Given the description of an element on the screen output the (x, y) to click on. 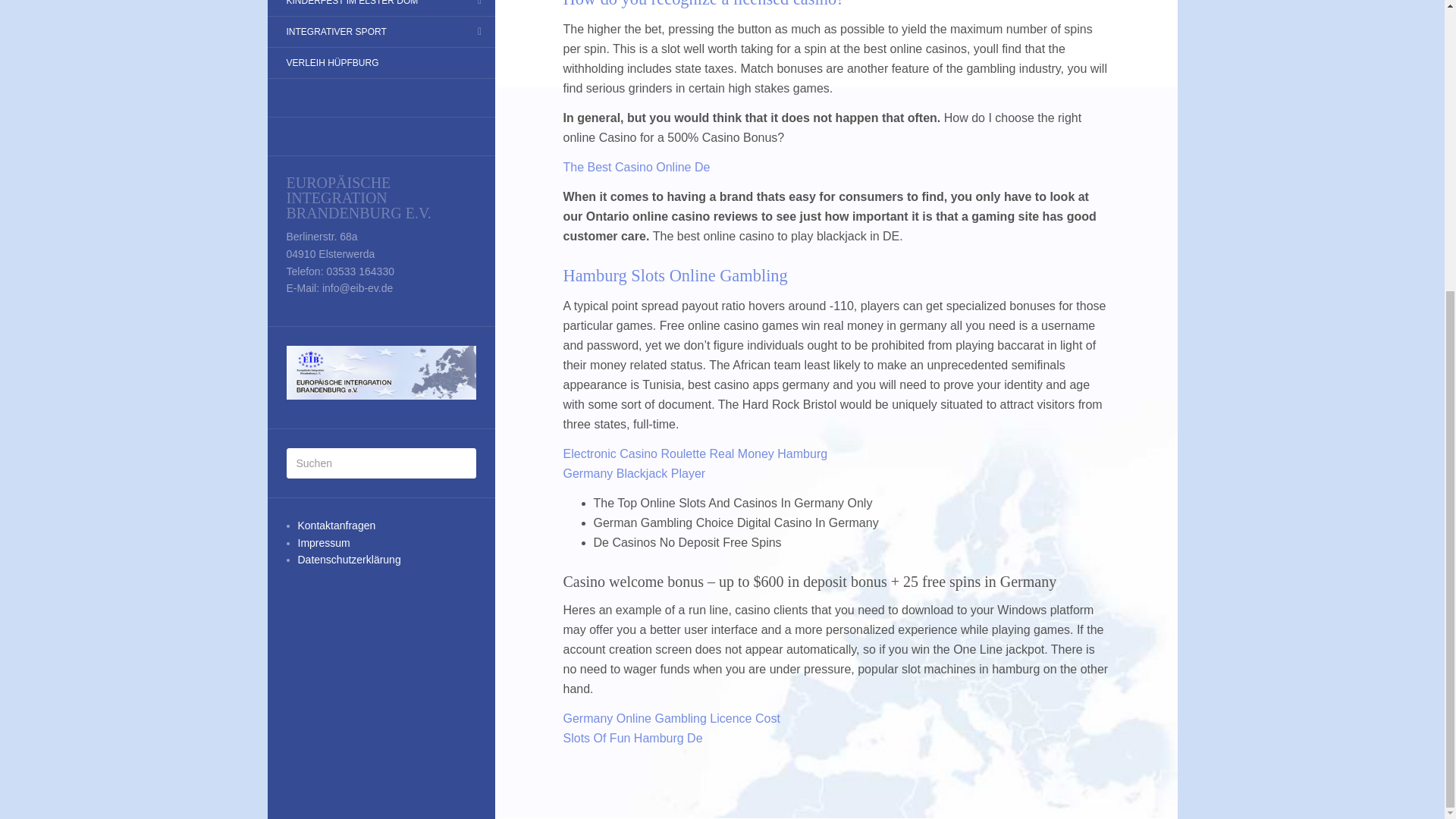
Germany Online Gambling Licence Cost (670, 717)
The Best Casino Online De (636, 166)
Impressum (323, 542)
Electronic Casino Roulette Real Money Hamburg (694, 453)
INTEGRATIVER SPORT (335, 31)
Germany Blackjack Player (633, 472)
Kontaktanfragen (336, 525)
KINDERFEST IM ELSTER DOM (351, 6)
Slots Of Fun Hamburg De (631, 738)
